Given the description of an element on the screen output the (x, y) to click on. 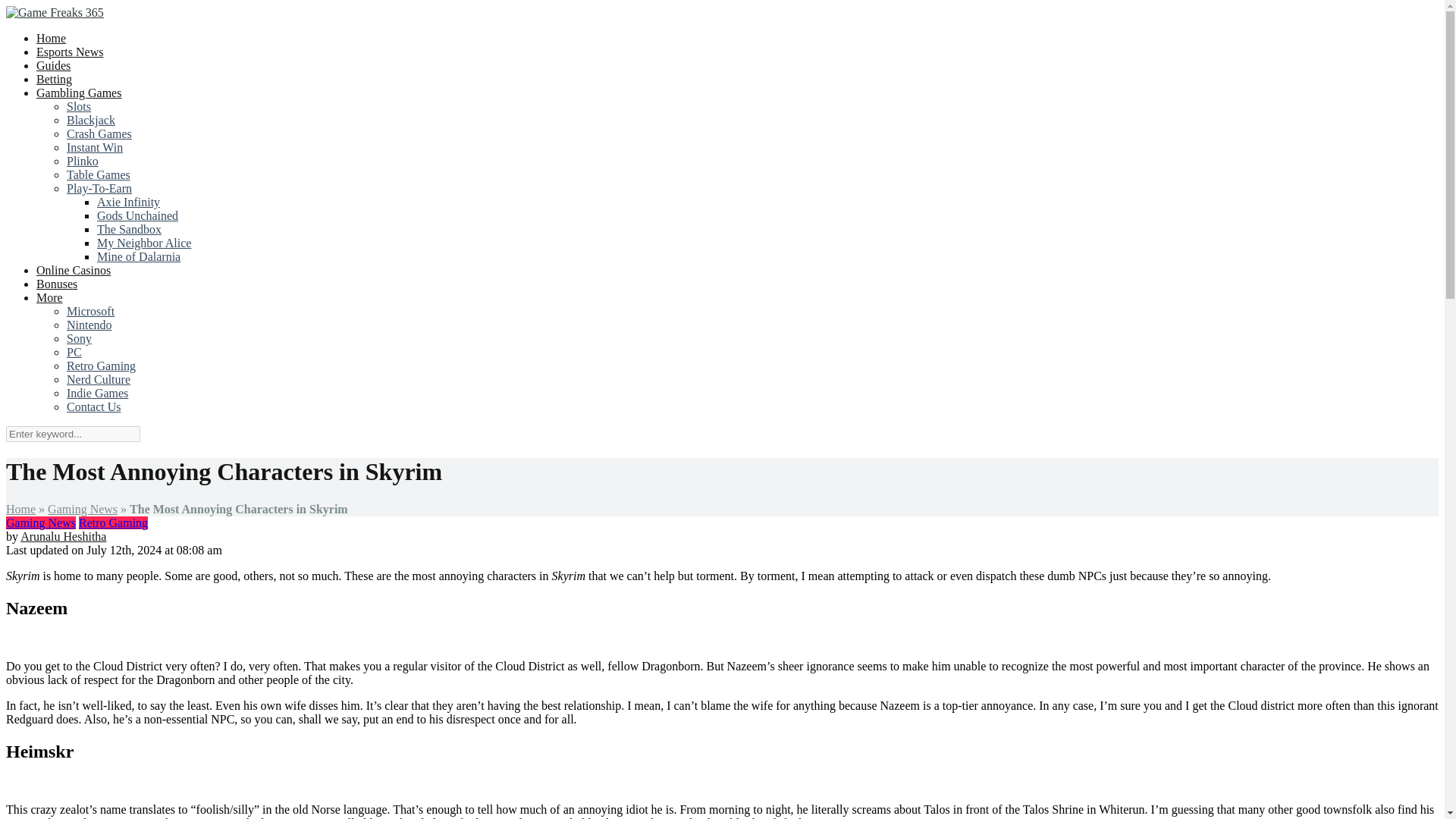
Axie Infinity (128, 202)
Arunalu Heshitha (63, 535)
Guides (52, 65)
Posts by Arunalu Heshitha (63, 535)
Retro Gaming (100, 366)
Retro Gaming (113, 522)
Sony (78, 338)
PC (73, 352)
Contact Us (93, 407)
Plinko (82, 161)
Mine of Dalarnia (138, 256)
Gaming News (82, 508)
Instant Win (94, 147)
Gaming News (40, 522)
My Neighbor Alice (143, 243)
